Given the description of an element on the screen output the (x, y) to click on. 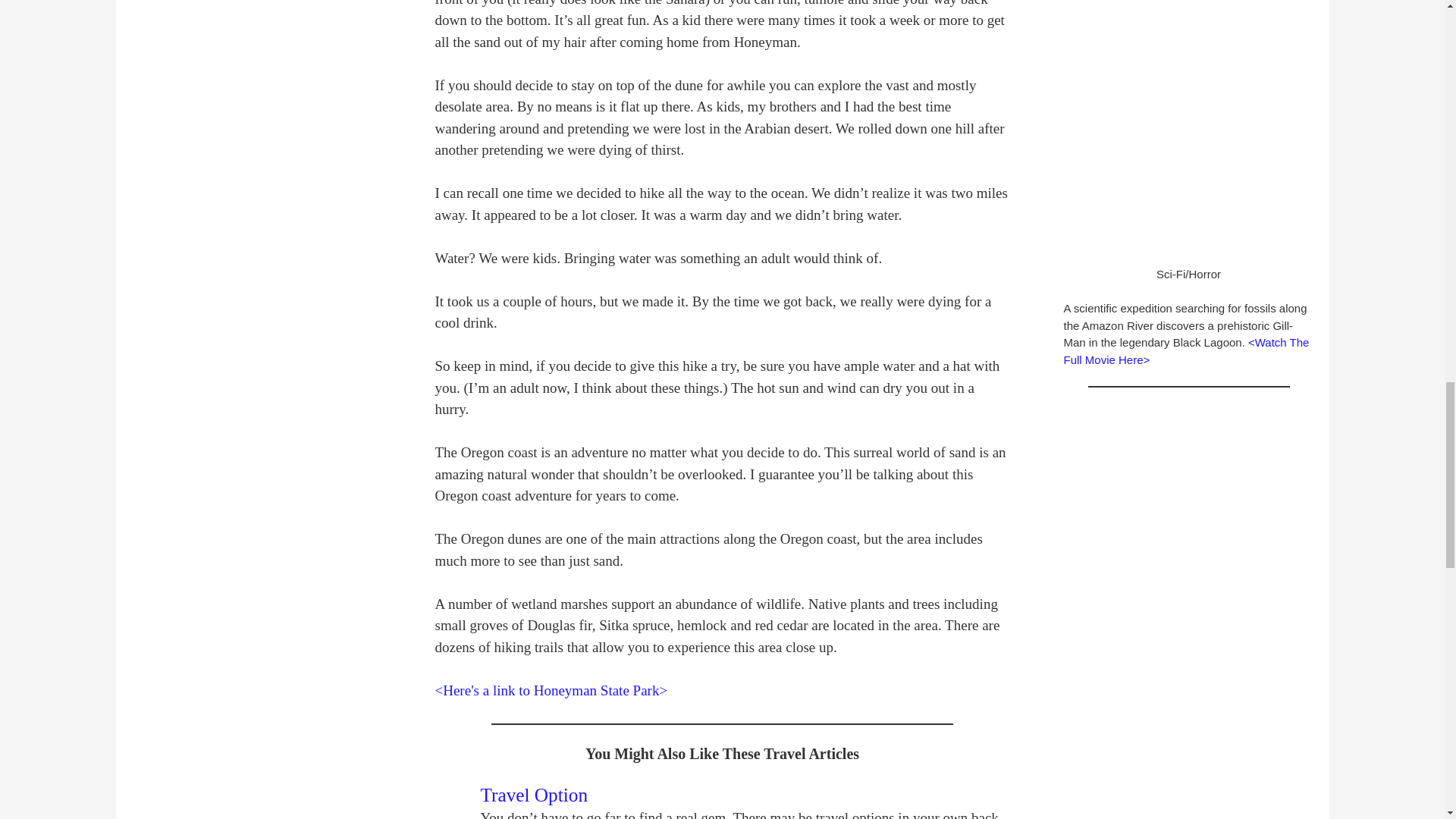
Advertisement (1187, 488)
Travel Option (534, 794)
creature from the black lagoon (1187, 124)
